Given the description of an element on the screen output the (x, y) to click on. 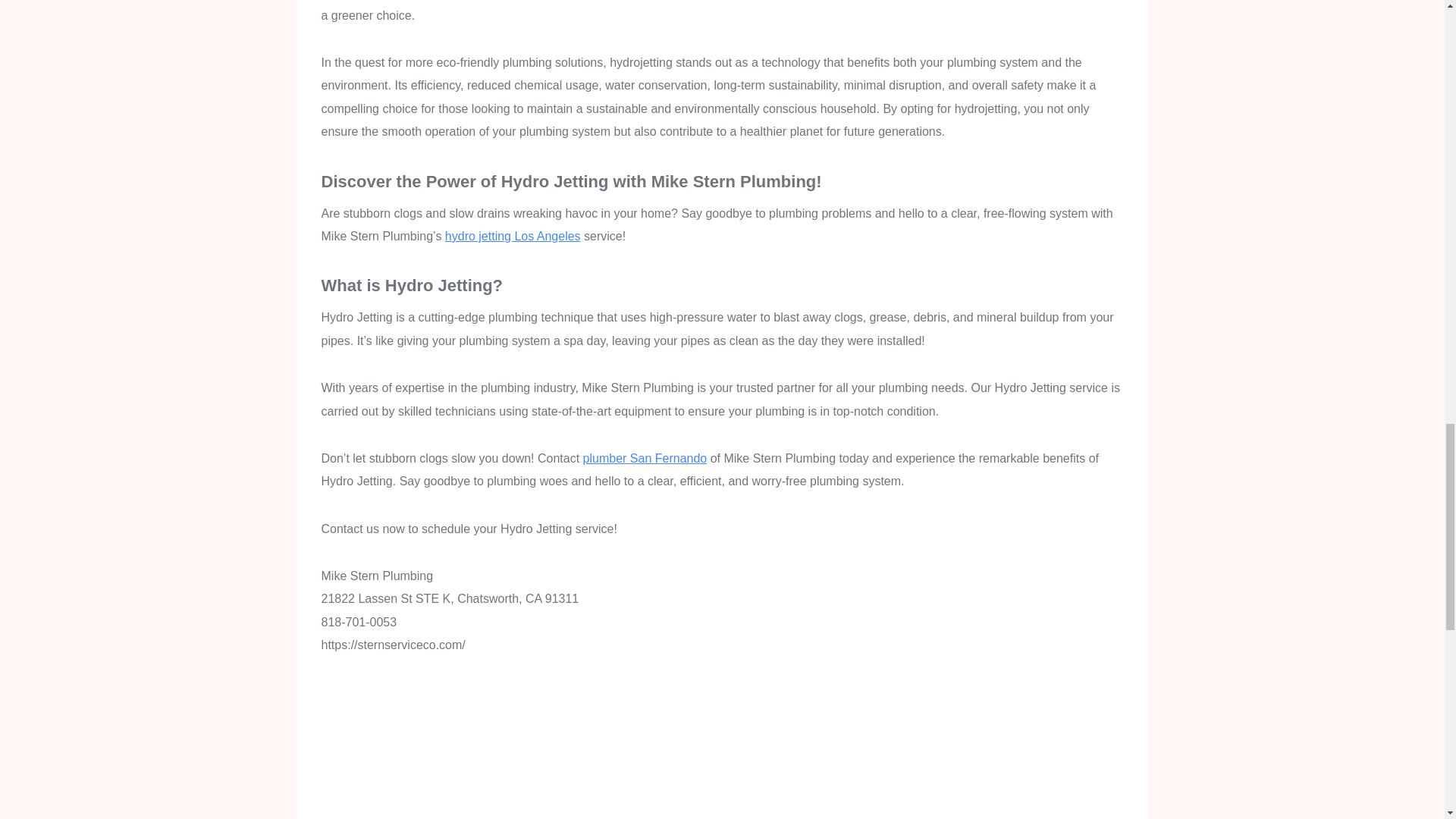
plumber San Fernando (645, 458)
hydro jetting Los Angeles (512, 236)
